Given the description of an element on the screen output the (x, y) to click on. 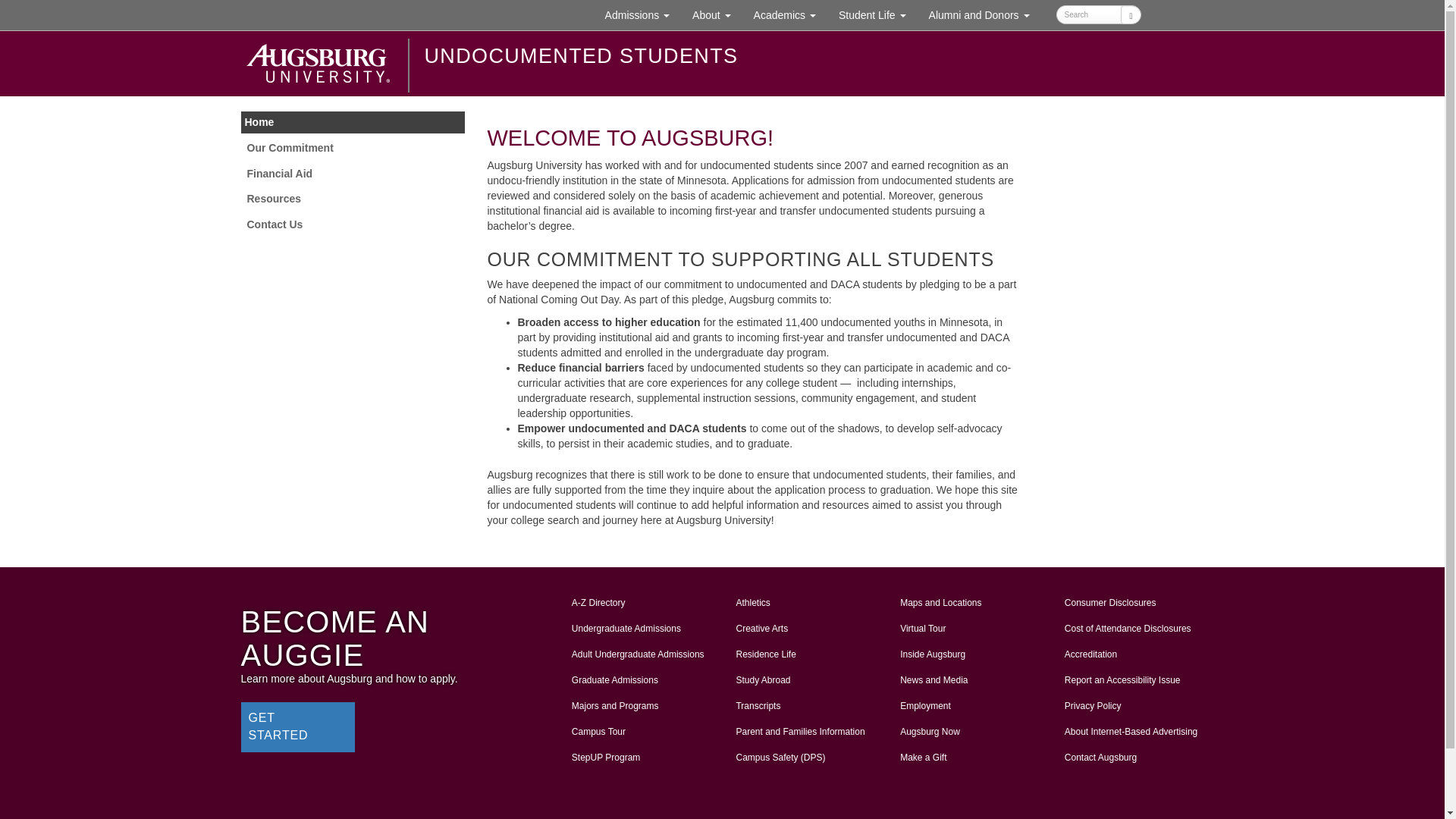
Search Augsburg.edu (784, 15)
